Given the description of an element on the screen output the (x, y) to click on. 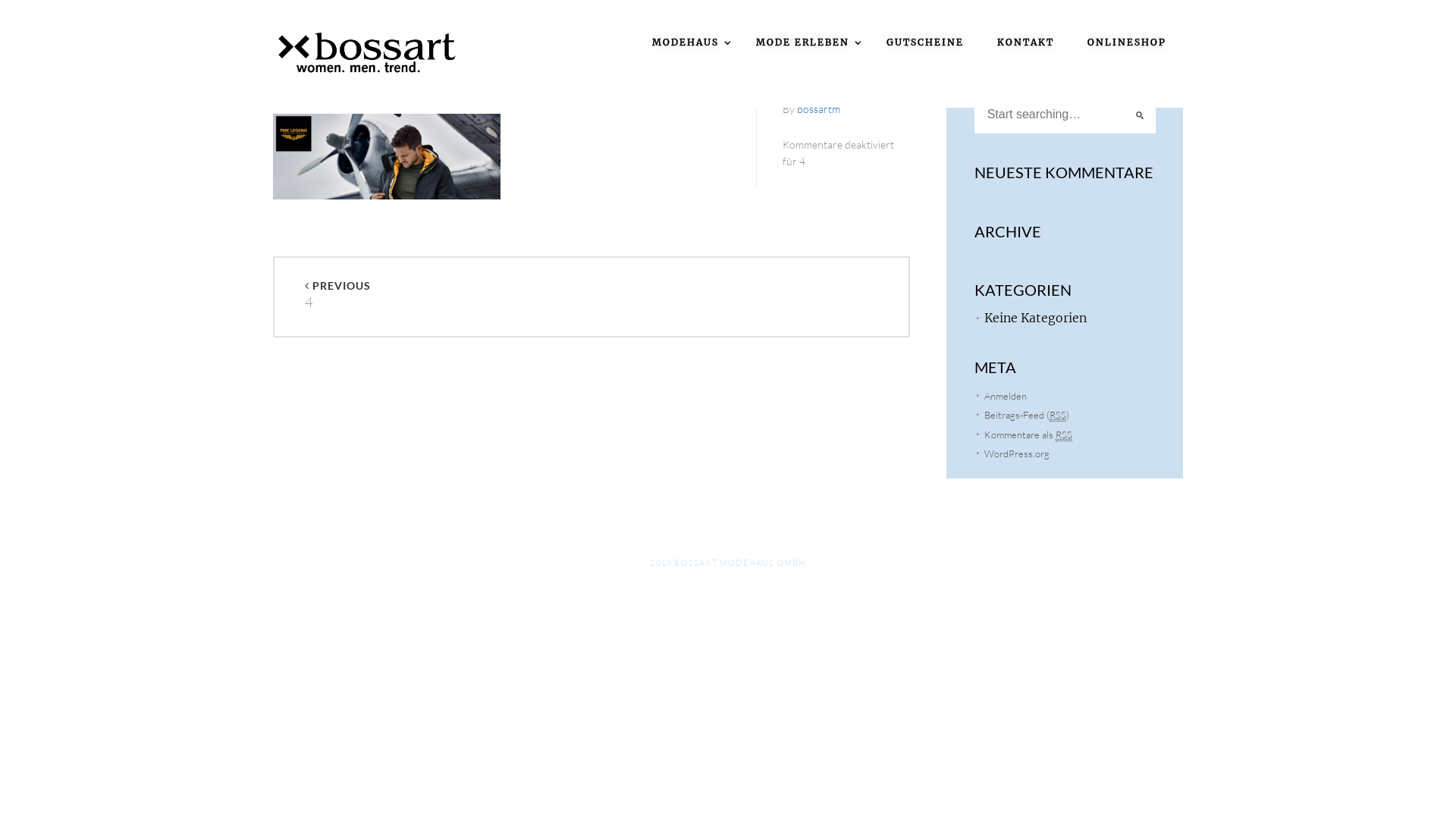
Anmelden Element type: text (1005, 395)
Search Element type: text (25, 9)
WordPress.org Element type: text (1016, 453)
Kommentare als RSS Element type: text (1028, 433)
MODE ERLEBEN Element type: text (804, 32)
Beitrags-Feed (RSS) Element type: text (1026, 414)
ONLINESHOP Element type: text (1126, 32)
GUTSCHEINE Element type: text (924, 32)
Bossart Mode Element type: hover (367, 51)
MODEHAUS Element type: text (687, 32)
PREVIOUS
4 Element type: text (447, 296)
KONTAKT Element type: text (1025, 32)
bossartm Element type: text (818, 108)
